Given the description of an element on the screen output the (x, y) to click on. 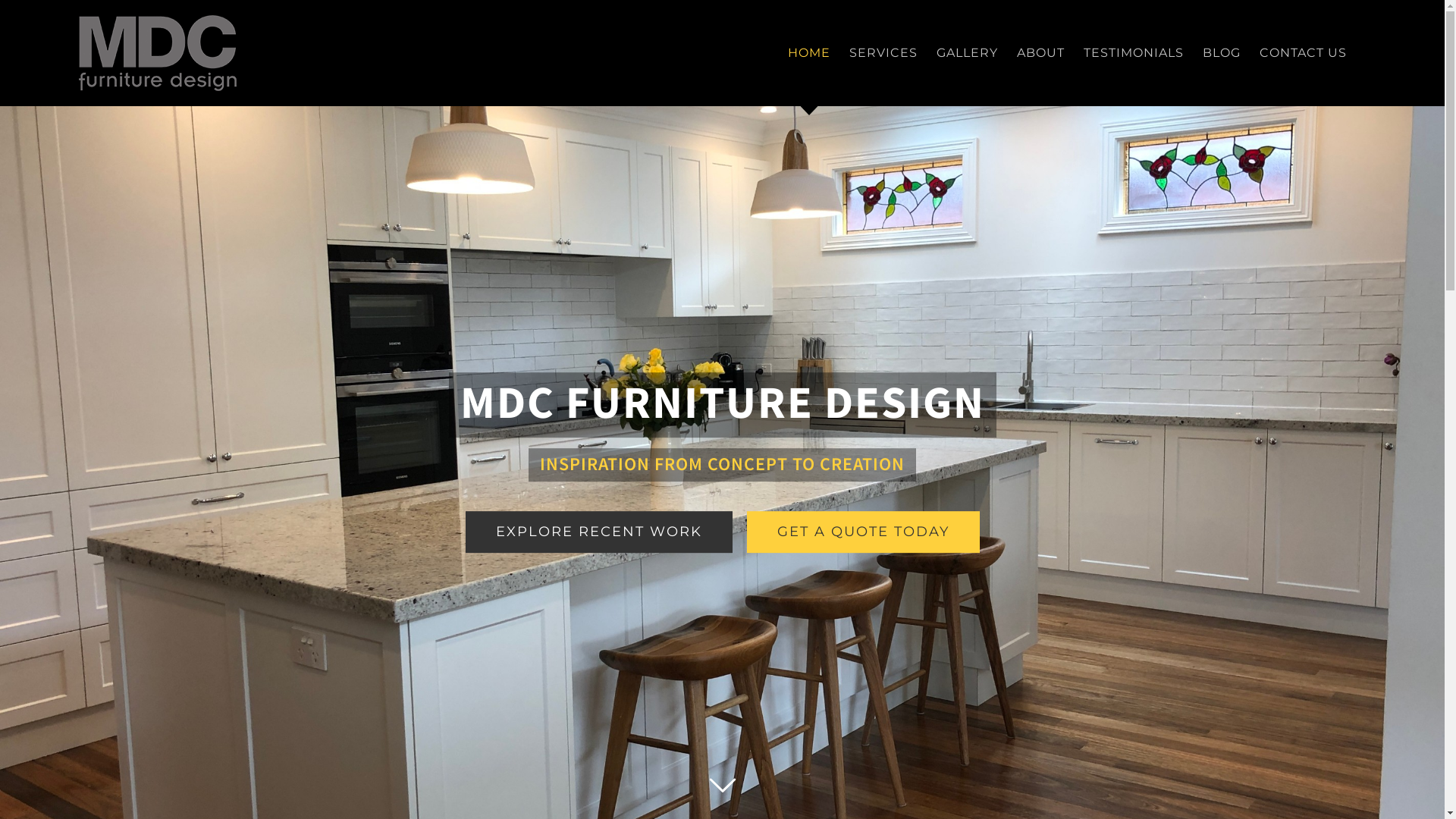
ABOUT Element type: text (1040, 53)
EXPLORE RECENT WORK Element type: text (598, 531)
TESTIMONIALS Element type: text (1133, 53)
HOME Element type: text (808, 53)
BLOG Element type: text (1221, 53)
GET A QUOTE TODAY Element type: text (862, 531)
SERVICES Element type: text (883, 53)
CONTACT US Element type: text (1302, 53)
GALLERY Element type: text (966, 53)
